Given the description of an element on the screen output the (x, y) to click on. 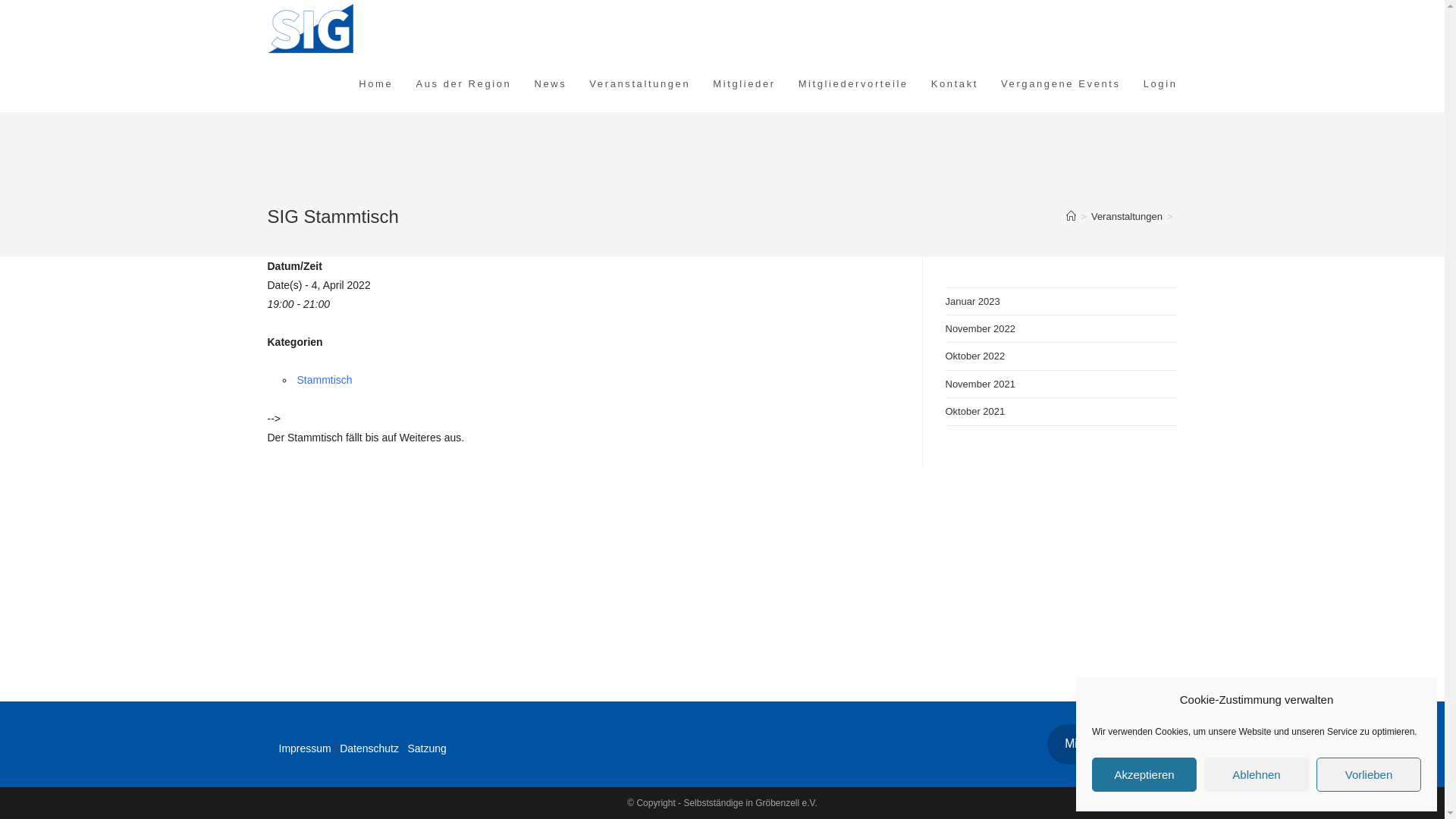
November 2021 Element type: text (979, 383)
Ablehnen Element type: text (1256, 774)
Mitglieder Element type: text (743, 84)
Veranstaltungen Element type: text (639, 84)
Oktober 2022 Element type: text (974, 355)
Kontakt Element type: text (954, 84)
Impressum Element type: text (305, 748)
Login Element type: text (1160, 84)
Datenschutz Element type: text (368, 748)
Satzung Element type: text (426, 748)
Vergangene Events Element type: text (1060, 84)
Home Element type: text (375, 84)
Veranstaltungen Element type: text (1126, 216)
News Element type: text (549, 84)
Oktober 2021 Element type: text (974, 411)
Mitglied werden Element type: text (1106, 744)
November 2022 Element type: text (979, 328)
Vorlieben Element type: text (1368, 774)
Januar 2023 Element type: text (971, 301)
Stammtisch Element type: text (324, 379)
Aus der Region Element type: text (463, 84)
Mitgliedervorteile Element type: text (853, 84)
Akzeptieren Element type: text (1144, 774)
